Given the description of an element on the screen output the (x, y) to click on. 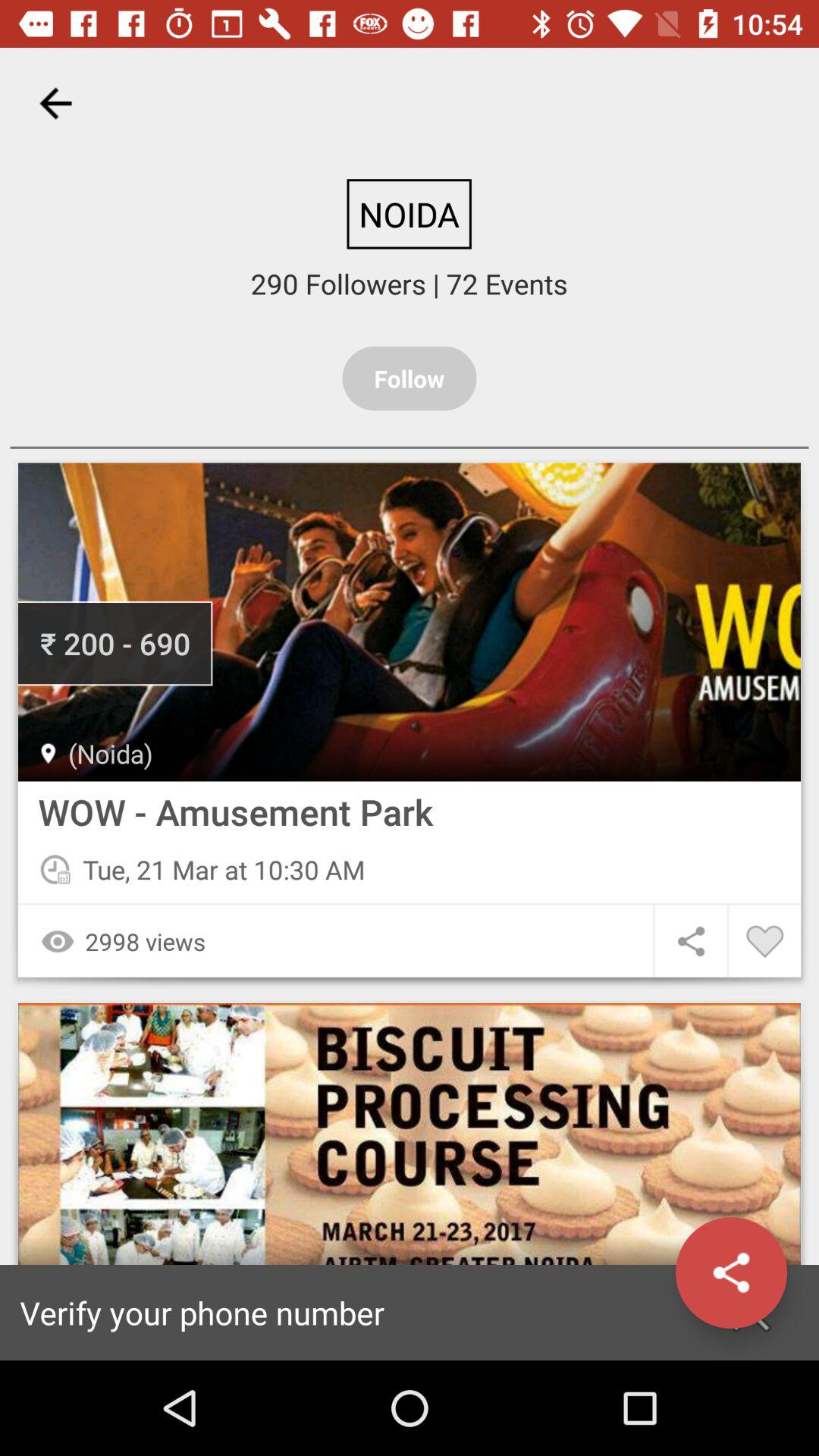
click on the image (409, 622)
click on follow which is above the image (409, 378)
click on the share icon which is at the bottom right corner (751, 1312)
